Given the description of an element on the screen output the (x, y) to click on. 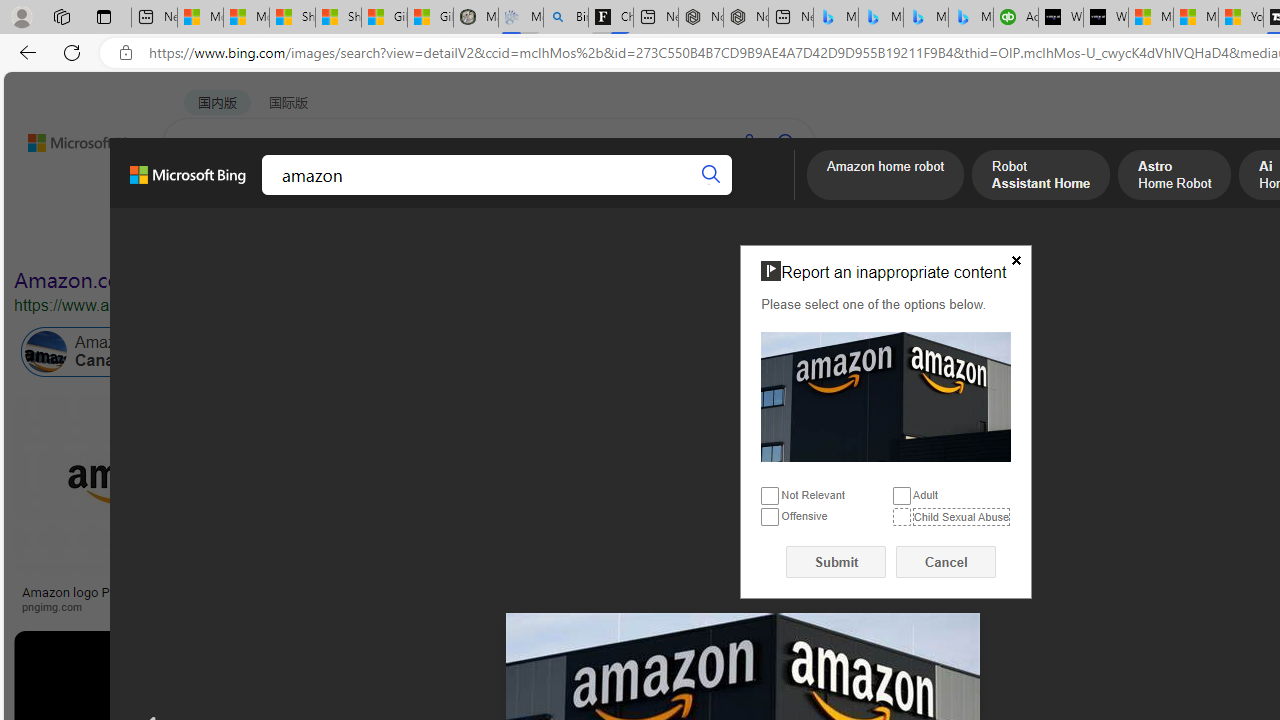
Two Reasons Why Retailers Need to Leverage Amazon (396, 598)
Accounting Software for Accountants, CPAs and Bookkeepers (1016, 17)
DICT (630, 195)
usatoday.com (710, 606)
Amazon India (850, 351)
Astro Home Robot (1174, 177)
People (520, 237)
People (521, 237)
Adult (901, 496)
Kindle Paperwhite Case (1183, 524)
Search button (712, 174)
Microsoft Bing Travel - Stays in Bangkok, Bangkok, Thailand (880, 17)
